Given the description of an element on the screen output the (x, y) to click on. 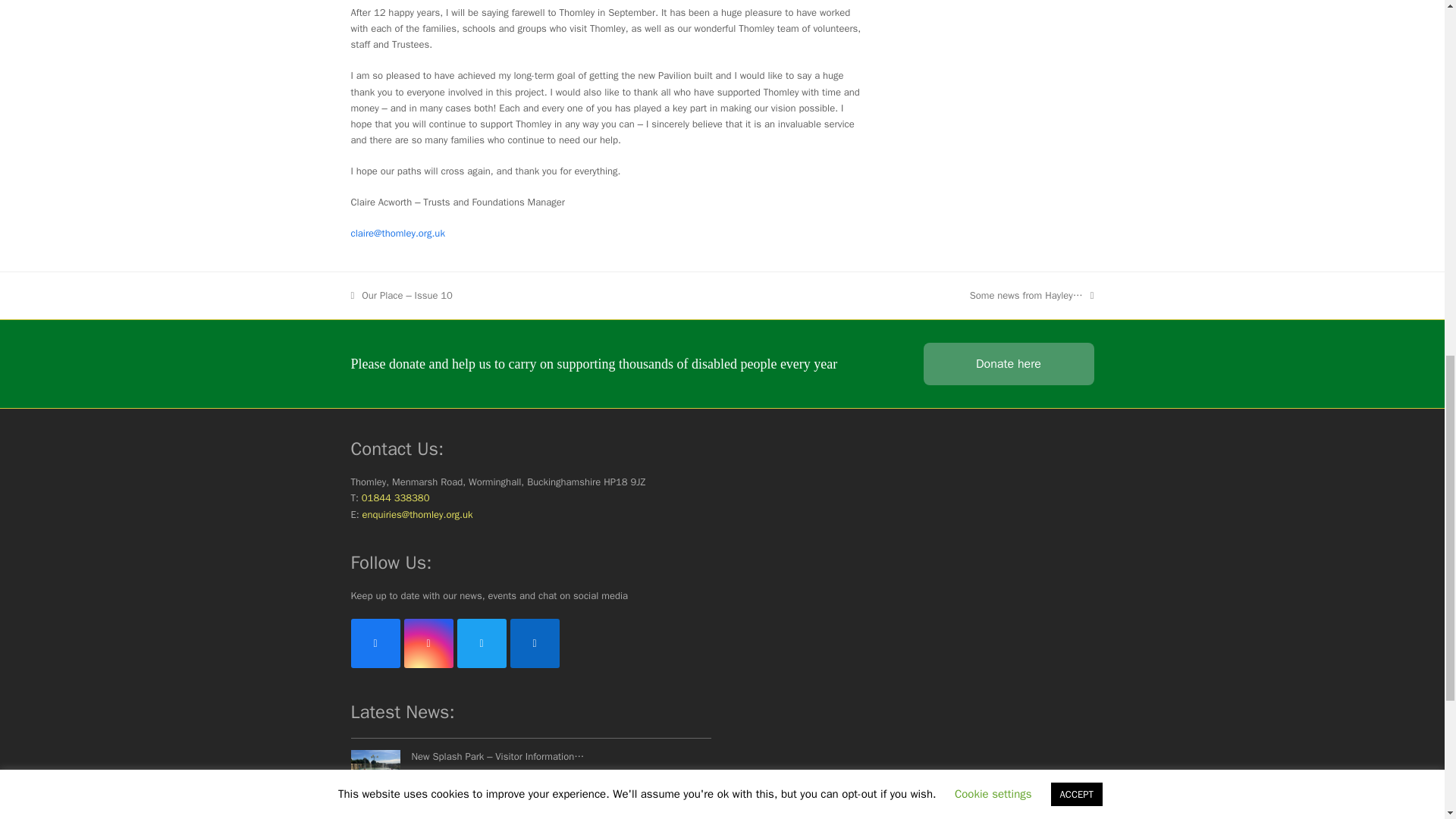
Donate here (1008, 363)
Twitter (481, 643)
Instagram (427, 643)
LinkedIn (534, 643)
Facebook (374, 643)
01844 338380 (395, 497)
